Given the description of an element on the screen output the (x, y) to click on. 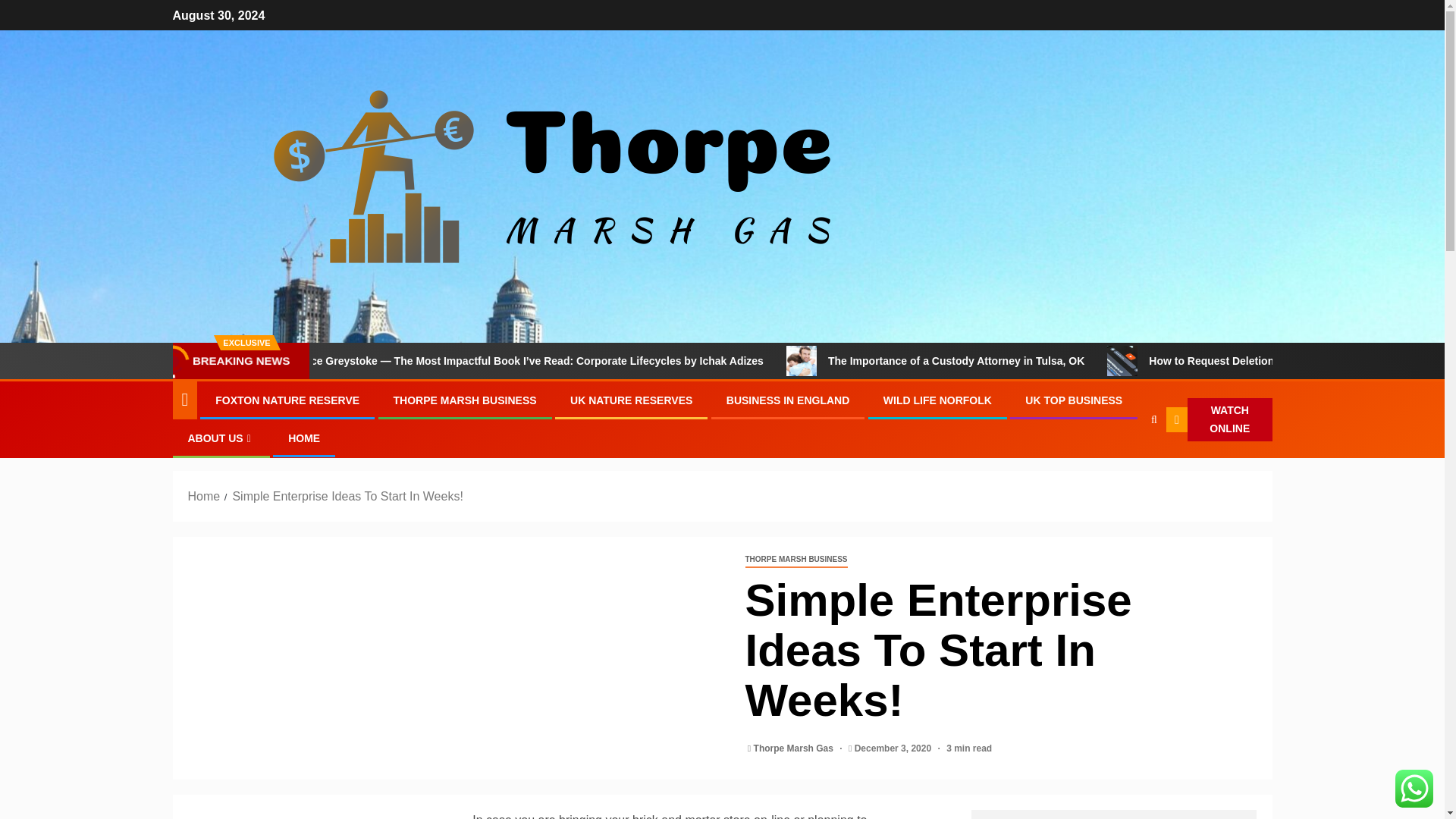
Simple Enterprise Ideas To Start In Weeks! (347, 495)
The Importance of a Custody Attorney in Tulsa, OK (1066, 360)
UK TOP BUSINESS (1073, 399)
Search (1123, 466)
How to Request Deletion of Personal Videos on YouTube (1203, 360)
BUSINESS IN ENGLAND (788, 399)
Thorpe Marsh Gas (794, 747)
The Importance of a Custody Attorney in Tulsa, OK (882, 360)
WATCH ONLINE (1219, 420)
UK NATURE RESERVES (631, 399)
